Given the description of an element on the screen output the (x, y) to click on. 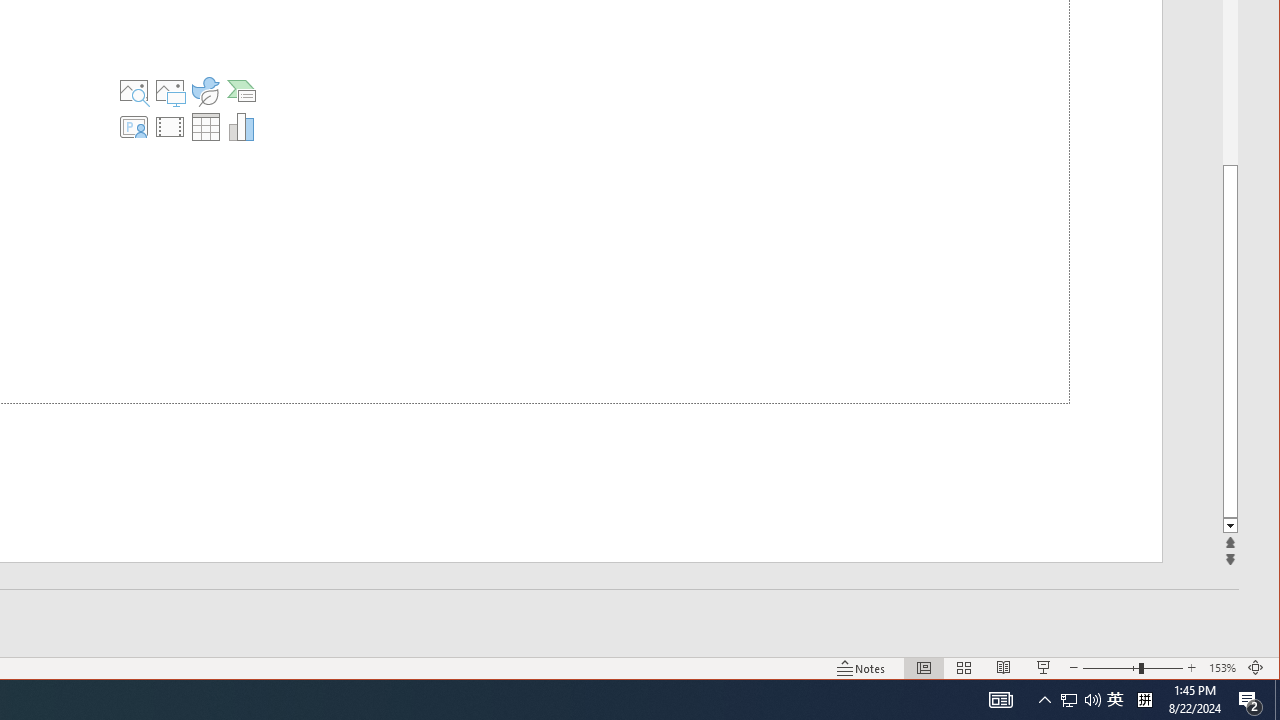
Insert an Icon (205, 90)
Insert a SmartArt Graphic (242, 90)
Insert Table (205, 126)
Zoom 153% (1222, 668)
